Given the description of an element on the screen output the (x, y) to click on. 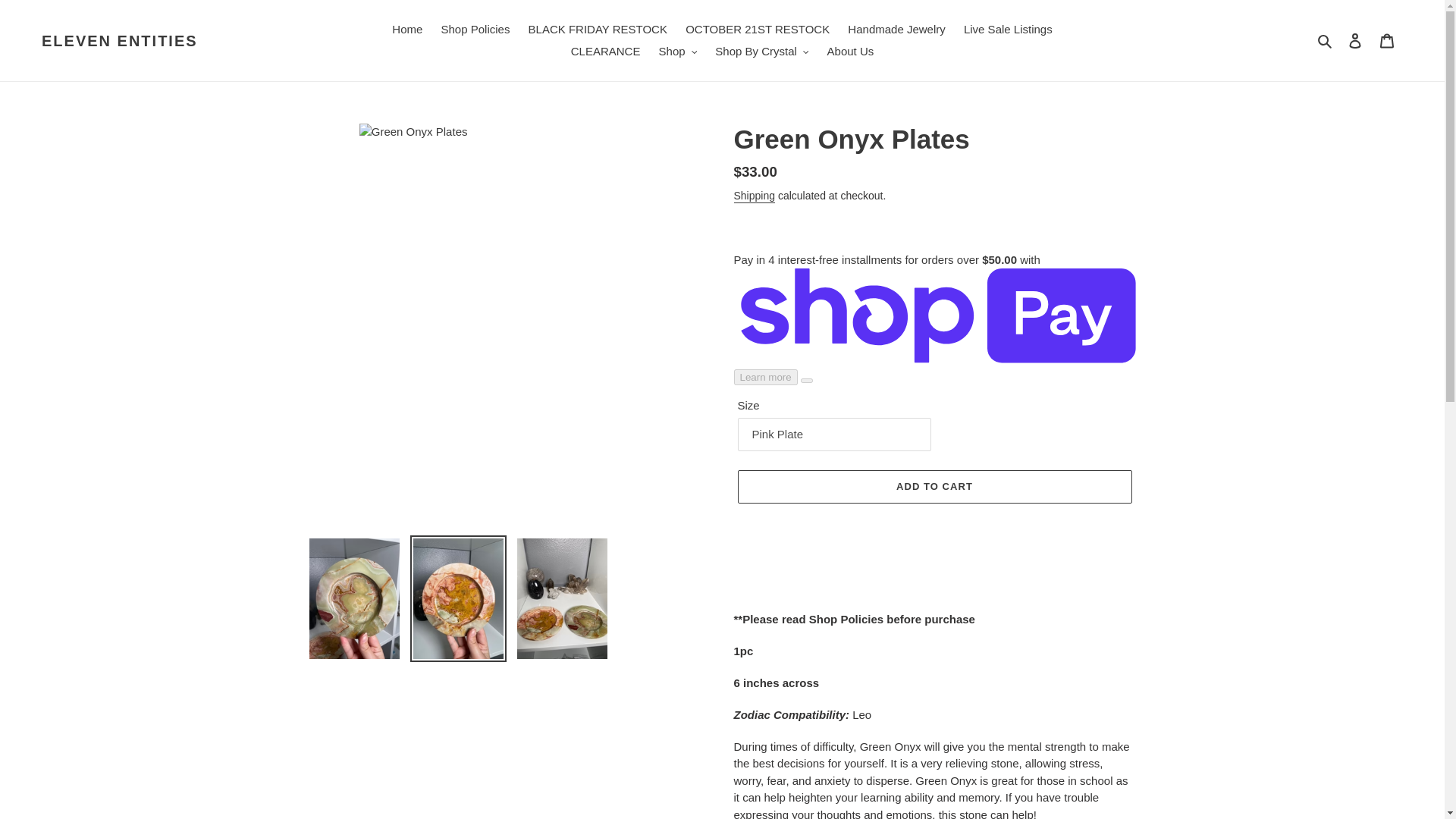
Handmade Jewelry (896, 29)
Live Sale Listings (1007, 29)
BLACK FRIDAY RESTOCK (598, 29)
Home (406, 29)
Shop (677, 51)
Shop Policies (475, 29)
ELEVEN ENTITIES (120, 40)
Shop By Crystal (761, 51)
OCTOBER 21ST RESTOCK (757, 29)
CLEARANCE (605, 51)
